Given the description of an element on the screen output the (x, y) to click on. 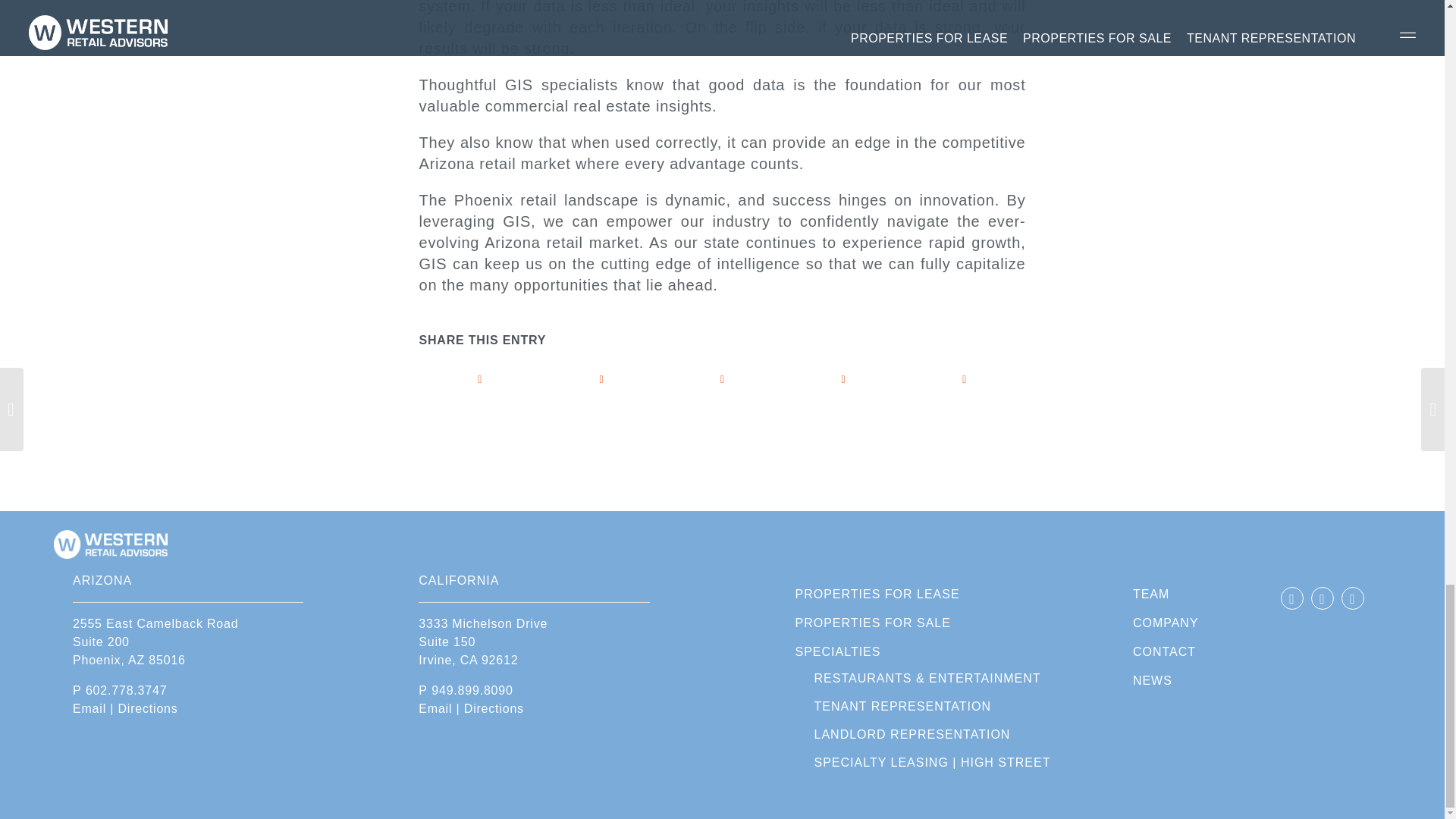
PROPERTIES FOR LEASE (921, 594)
LANDLORD REPRESENTATION (928, 735)
TENANT REPRESENTATION (928, 706)
COMPANY (1165, 623)
949.899.8090 (471, 689)
CONTACT (1165, 652)
PROPERTIES FOR SALE (921, 623)
TEAM (1165, 594)
Email (89, 707)
Directions (494, 707)
